Given the description of an element on the screen output the (x, y) to click on. 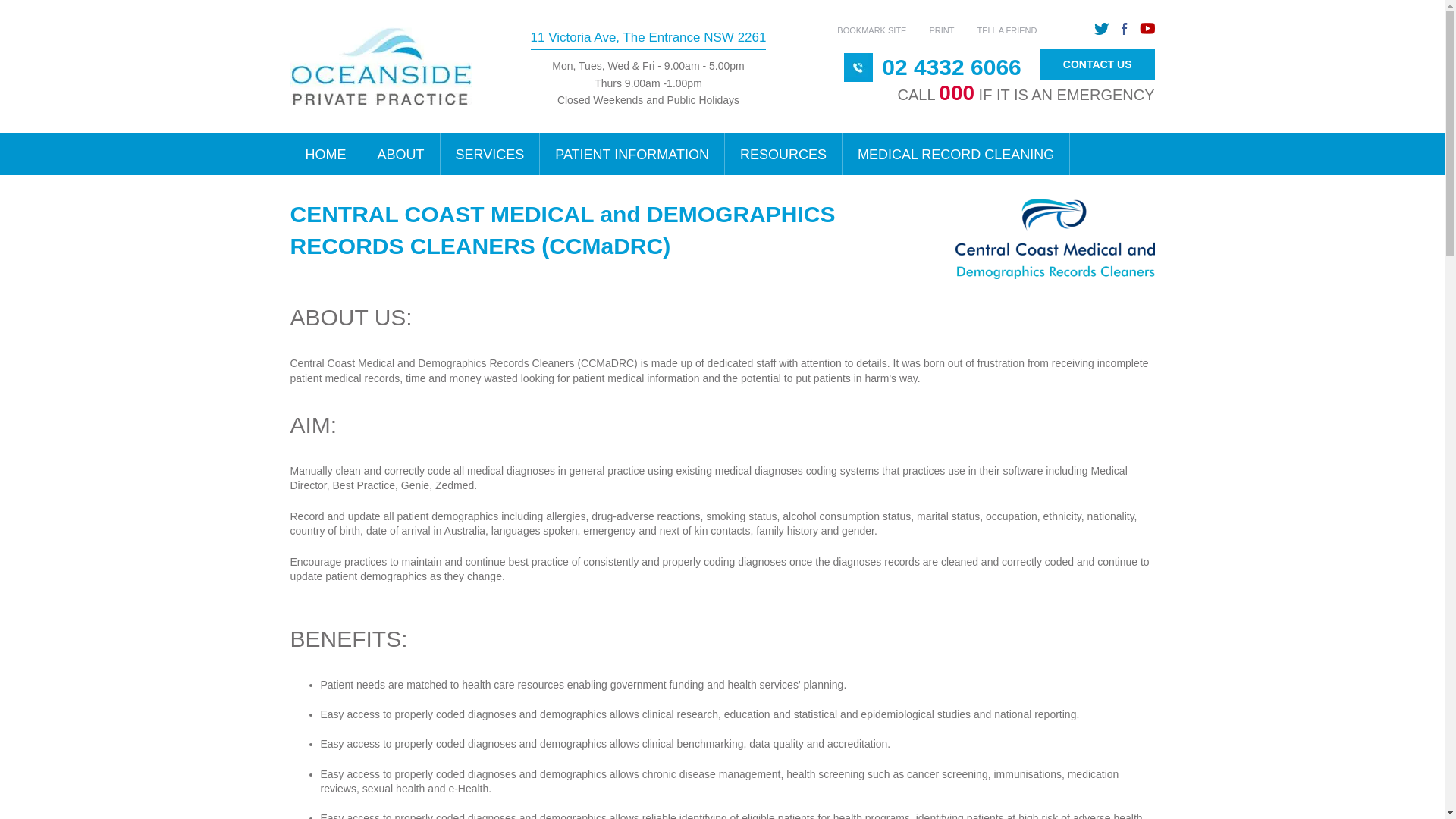
02 4332 6066 Element type: text (951, 66)
BOOKMARK SITE Element type: text (871, 29)
RESOURCES Element type: text (783, 154)
PATIENT INFORMATION Element type: text (631, 154)
SERVICES Element type: text (490, 154)
CONTACT US Element type: text (1097, 64)
facebook Element type: text (1123, 28)
ABOUT Element type: text (401, 154)
TELL A FRIEND Element type: text (1006, 29)
MEDICAL RECORD CLEANING Element type: text (956, 154)
twitter Element type: text (1100, 28)
HOME Element type: text (325, 154)
youtube Element type: text (1146, 28)
PRINT Element type: text (940, 29)
